Given the description of an element on the screen output the (x, y) to click on. 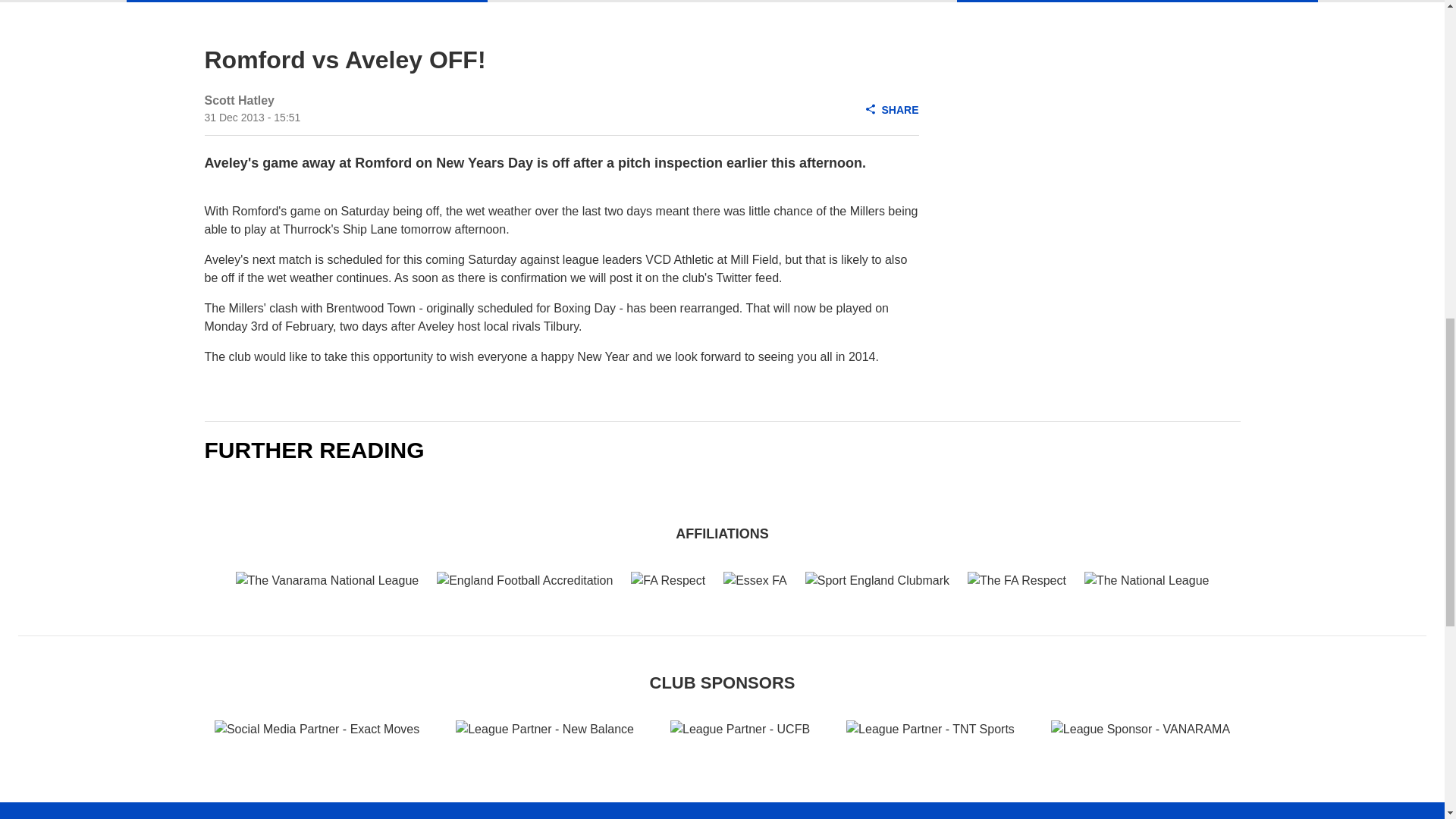
League Partner - New Balance (544, 729)
Social Media Partner - Exact Moves (316, 729)
League Partner - UCFB (739, 729)
League Sponsor - VANARAMA (1140, 729)
